Given the description of an element on the screen output the (x, y) to click on. 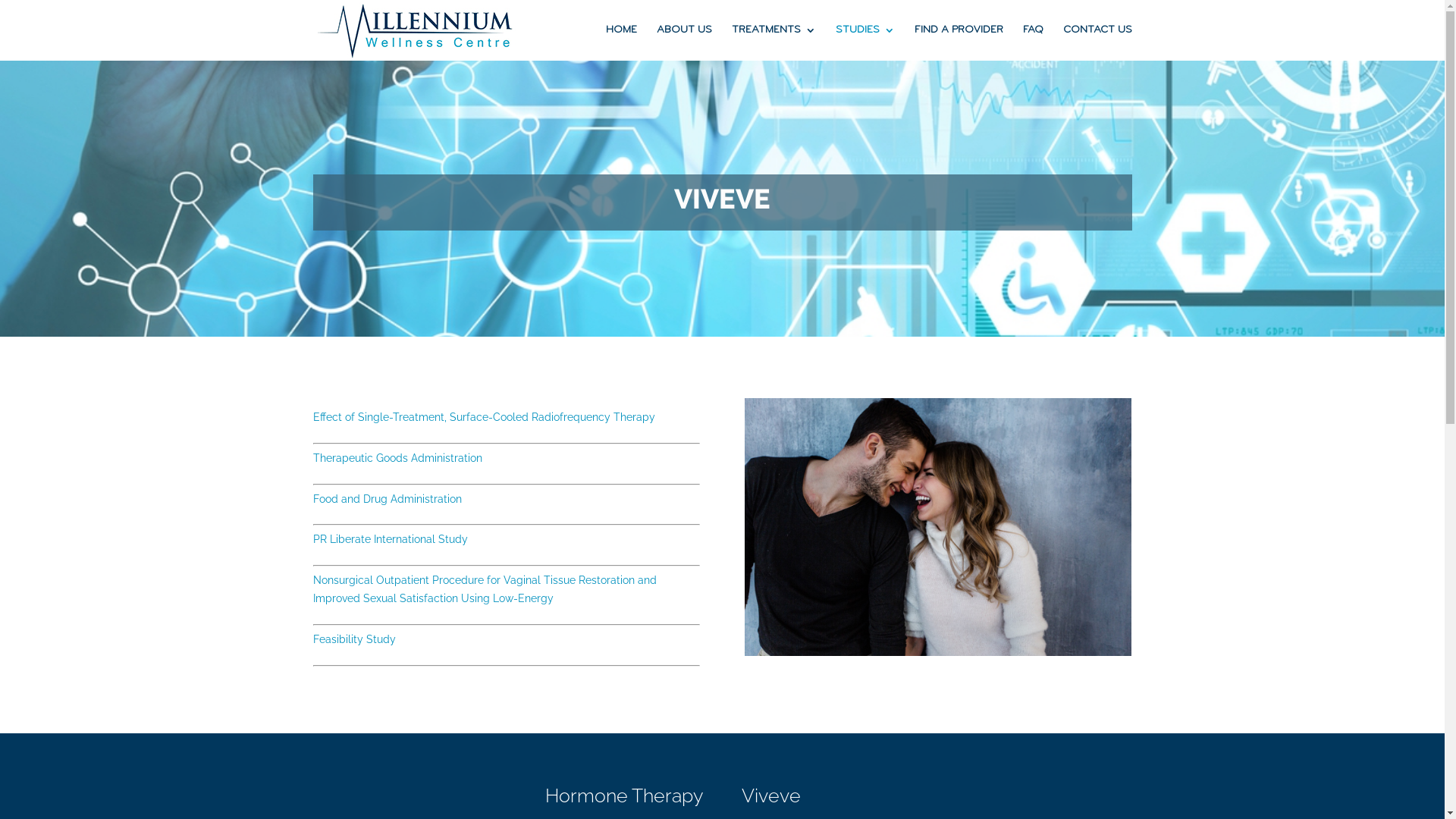
FAQ Element type: text (1032, 42)
FIND A PROVIDER Element type: text (958, 42)
ABOUT US Element type: text (684, 42)
Feasibility Study Element type: text (353, 639)
STUDIES Element type: text (864, 42)
Hormone Therapy Element type: text (624, 796)
TREATMENTS Element type: text (773, 42)
PR Liberate International Study Element type: text (389, 539)
HOME Element type: text (620, 42)
Viveve Element type: text (770, 796)
Therapeutic Goods Administration Element type: text (396, 457)
Food and Drug Administration Element type: text (386, 498)
CONTACT US Element type: text (1097, 42)
